Given the description of an element on the screen output the (x, y) to click on. 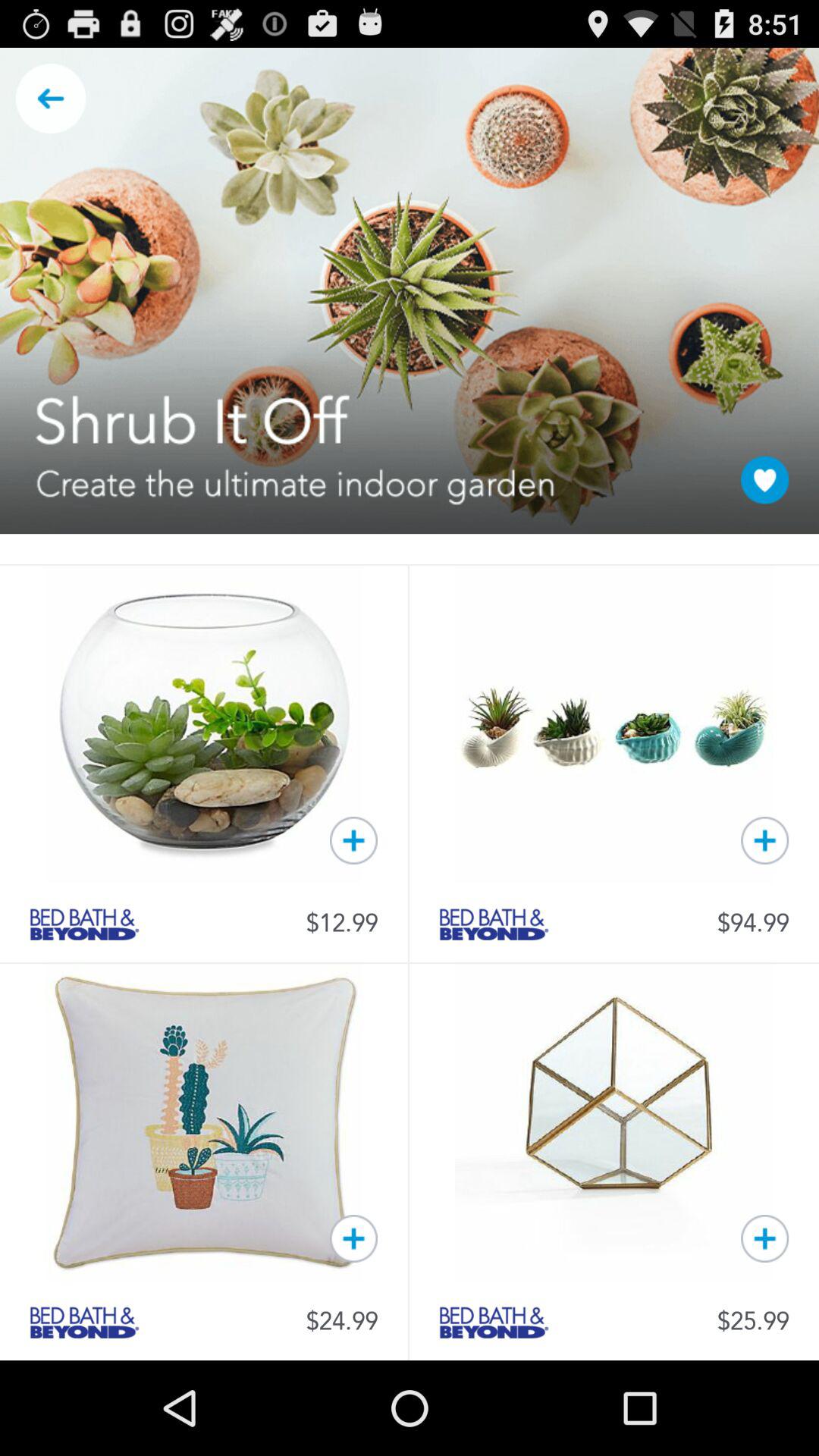
add plant to cart (353, 840)
